Given the description of an element on the screen output the (x, y) to click on. 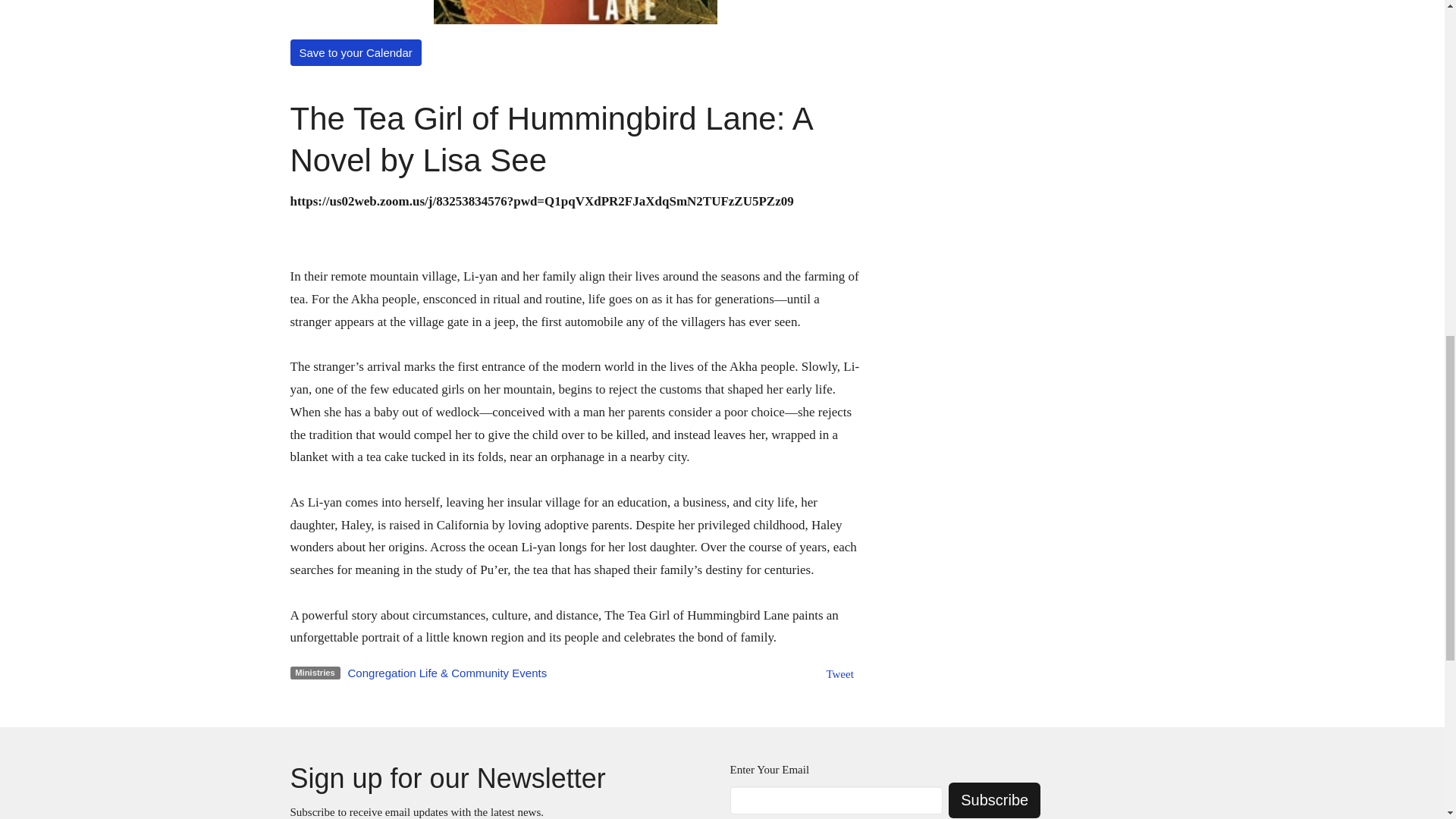
Save to your Calendar (354, 52)
Subscribe (995, 800)
Tweet (839, 674)
